Given the description of an element on the screen output the (x, y) to click on. 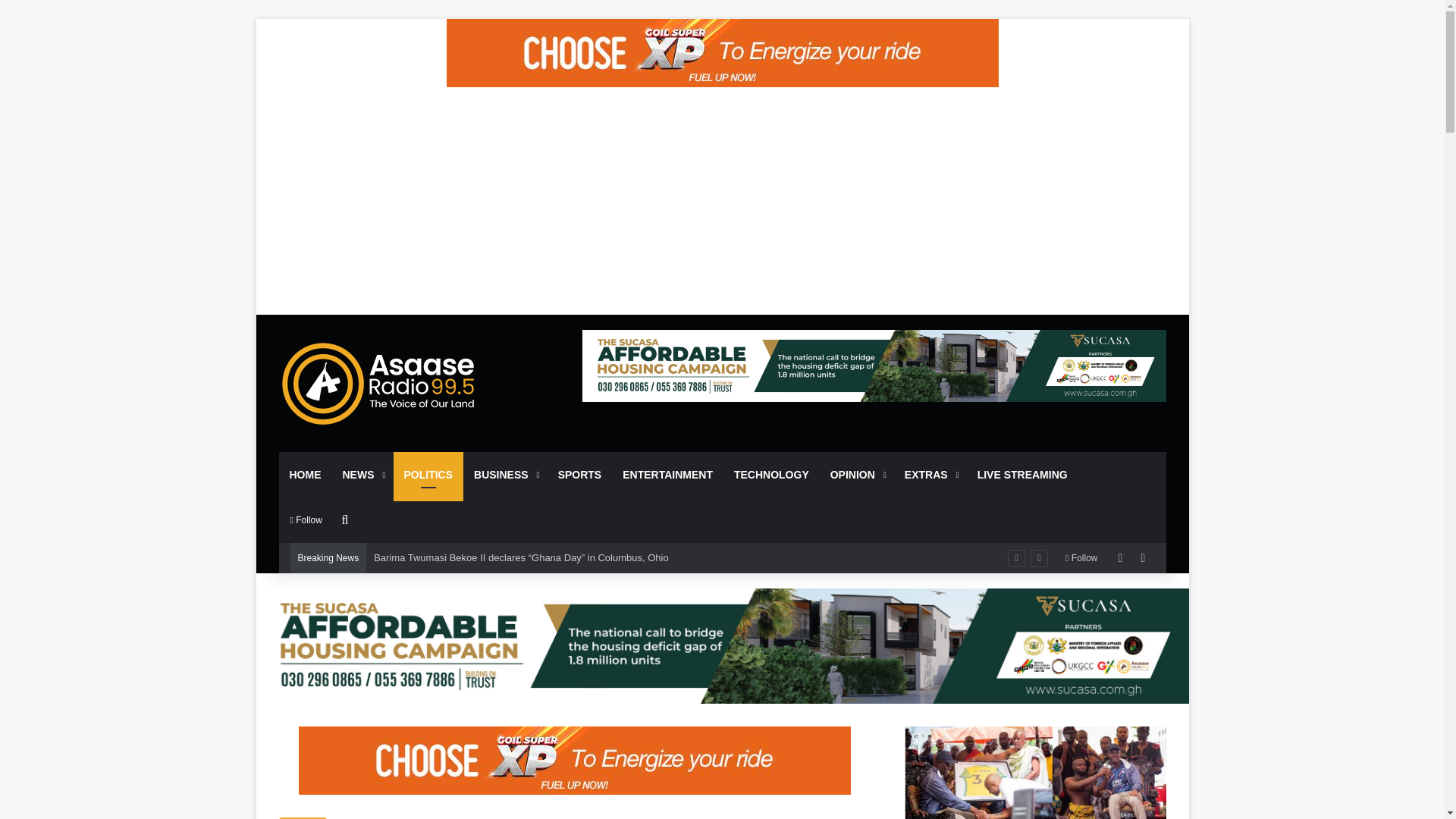
POLITICS (428, 474)
HOME (305, 474)
Asaase Radio (379, 382)
BUSINESS (505, 474)
NEWS (362, 474)
